Given the description of an element on the screen output the (x, y) to click on. 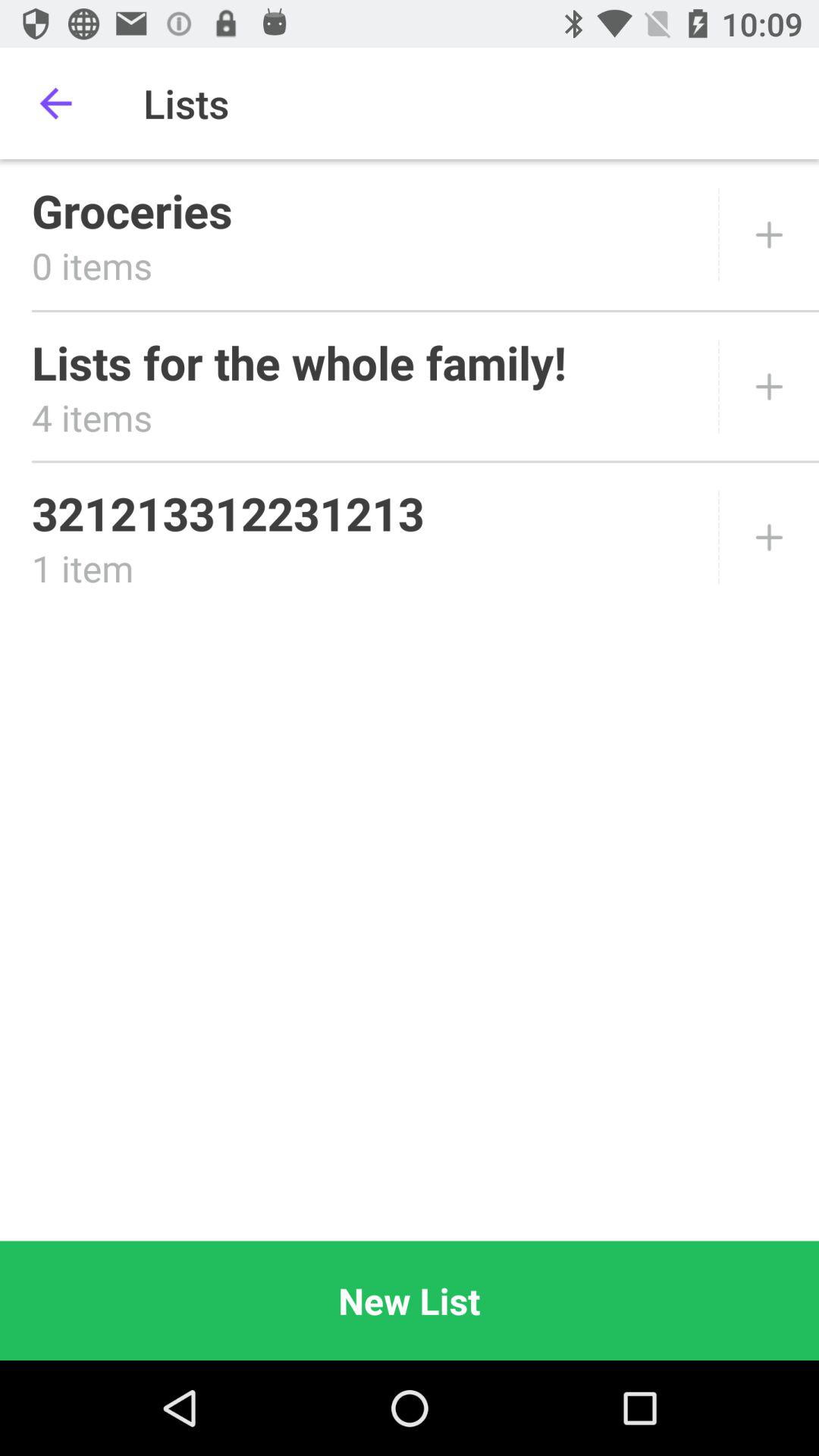
turn on the icon next to the lists (55, 103)
